Given the description of an element on the screen output the (x, y) to click on. 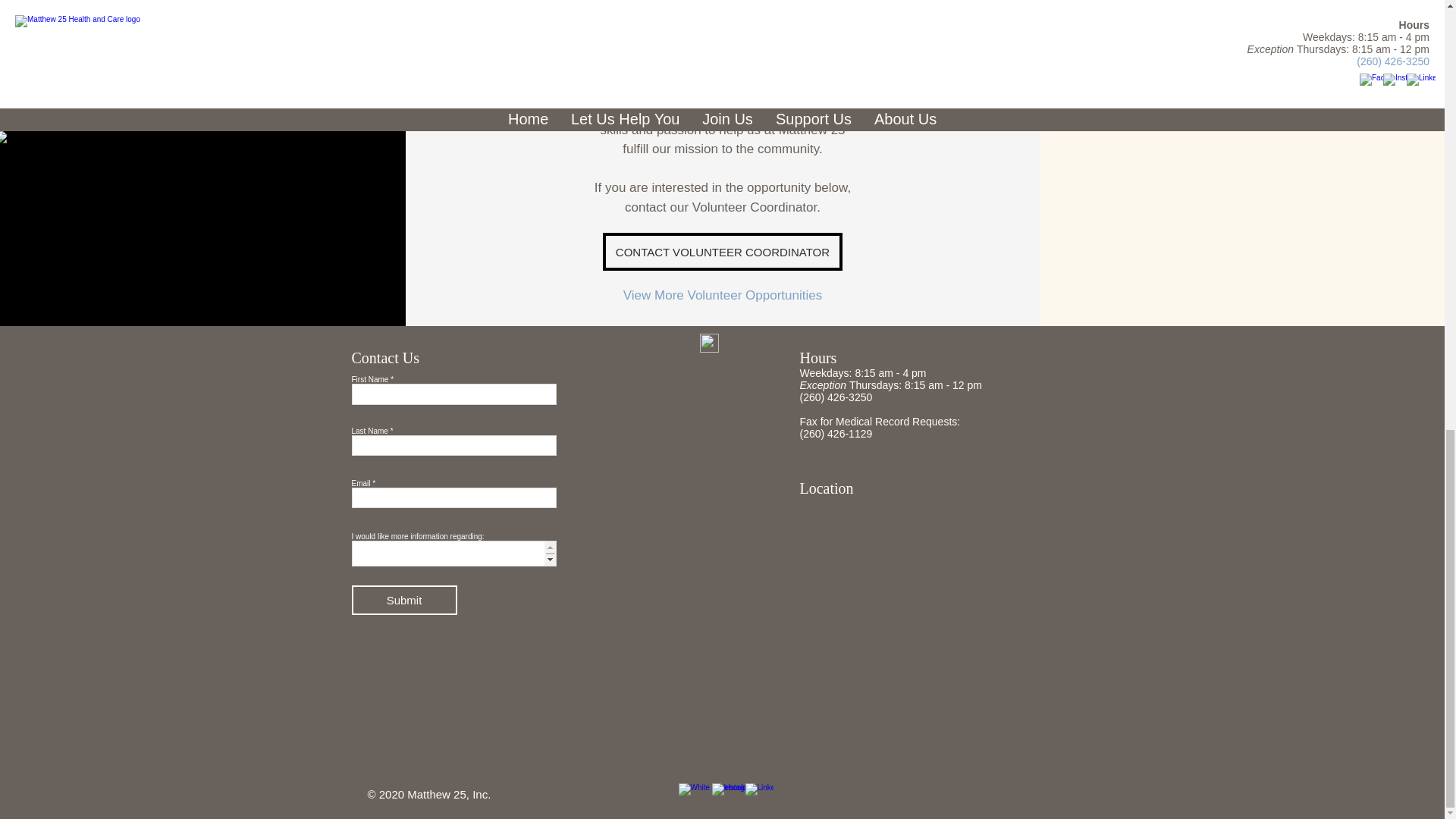
View More Volunteer Opportunities (722, 295)
CONTACT VOLUNTEER COORDINATOR (722, 251)
Submit (404, 600)
